Given the description of an element on the screen output the (x, y) to click on. 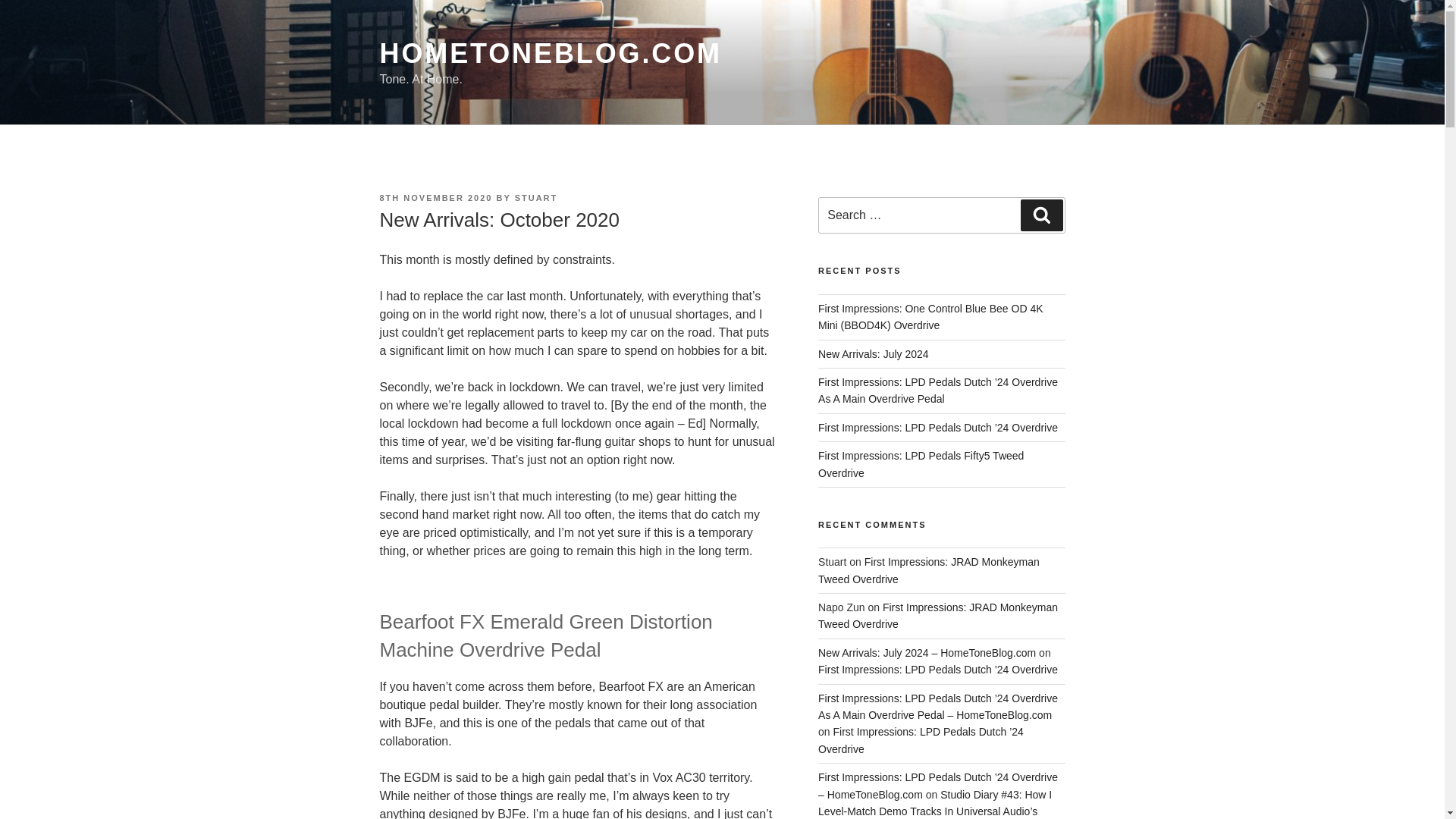
First Impressions: LPD Pedals Fifty5 Tweed Overdrive (920, 463)
HOMETONEBLOG.COM (549, 52)
First Impressions: JRAD Monkeyman Tweed Overdrive (928, 570)
8TH NOVEMBER 2020 (435, 197)
First Impressions: JRAD Monkeyman Tweed Overdrive (938, 615)
New Arrivals: July 2024 (873, 354)
Search (1041, 214)
STUART (536, 197)
